Given the description of an element on the screen output the (x, y) to click on. 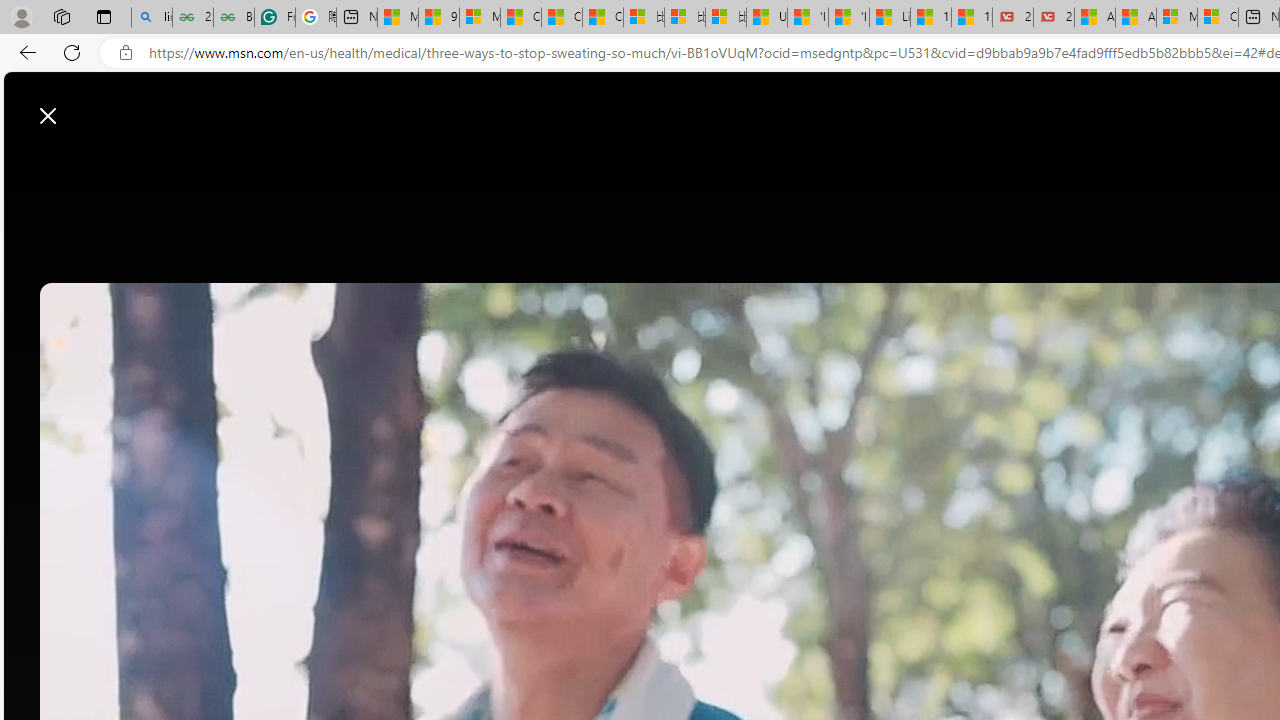
21 Movies That Outdid the Books They Were Based On (1053, 17)
Lifestyle - MSN (890, 17)
Cloud Computing Services | Microsoft Azure (1217, 17)
linux basic - Search (151, 17)
